Given the description of an element on the screen output the (x, y) to click on. 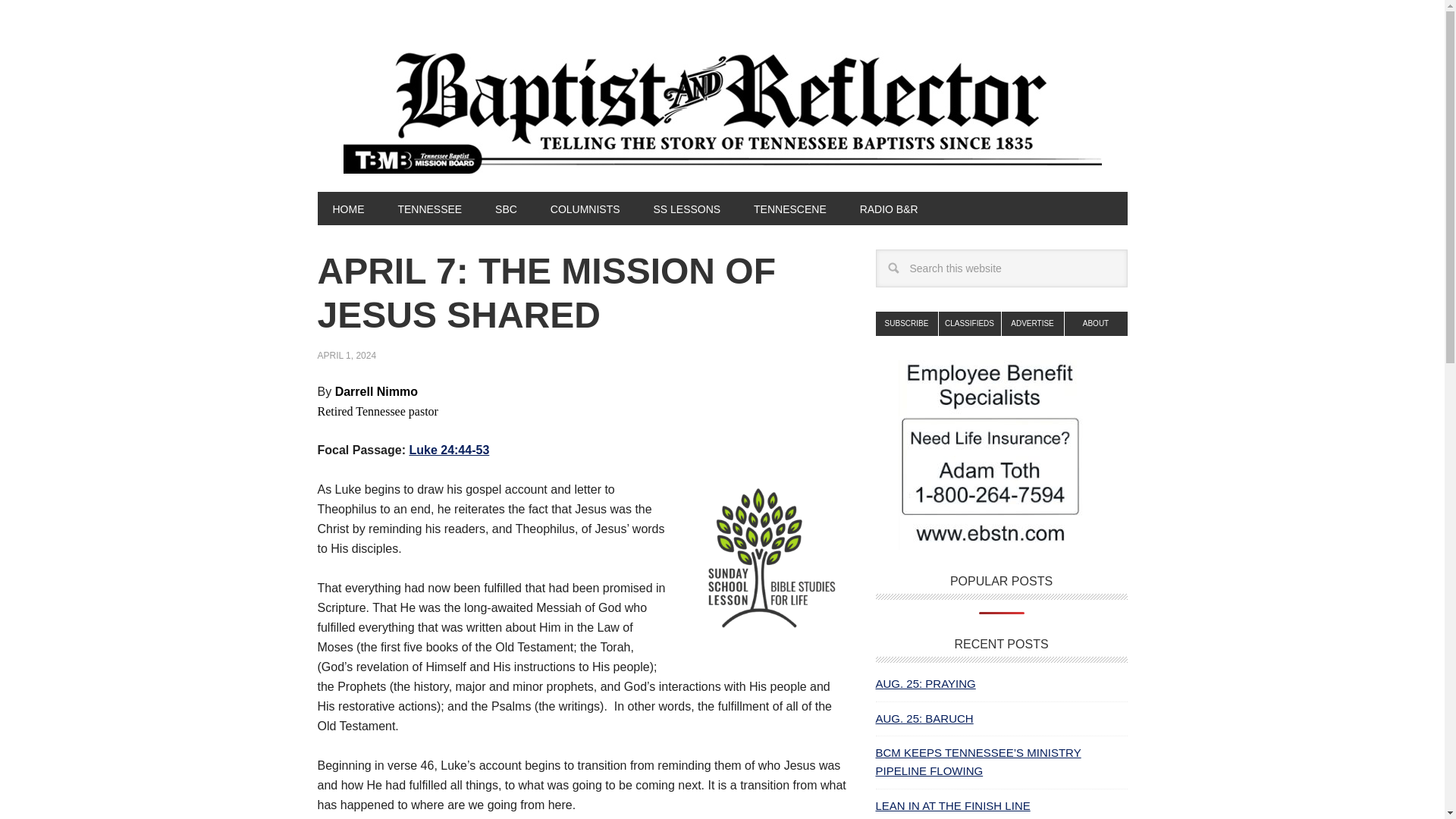
AUG. 25: PRAYING (925, 683)
COLUMNISTS (584, 208)
ABOUT (1095, 323)
LEAN IN AT THE FINISH LINE (952, 805)
SUBSCRIBE (906, 323)
TENNESCENE (789, 208)
SS LESSONS (686, 208)
